Given the description of an element on the screen output the (x, y) to click on. 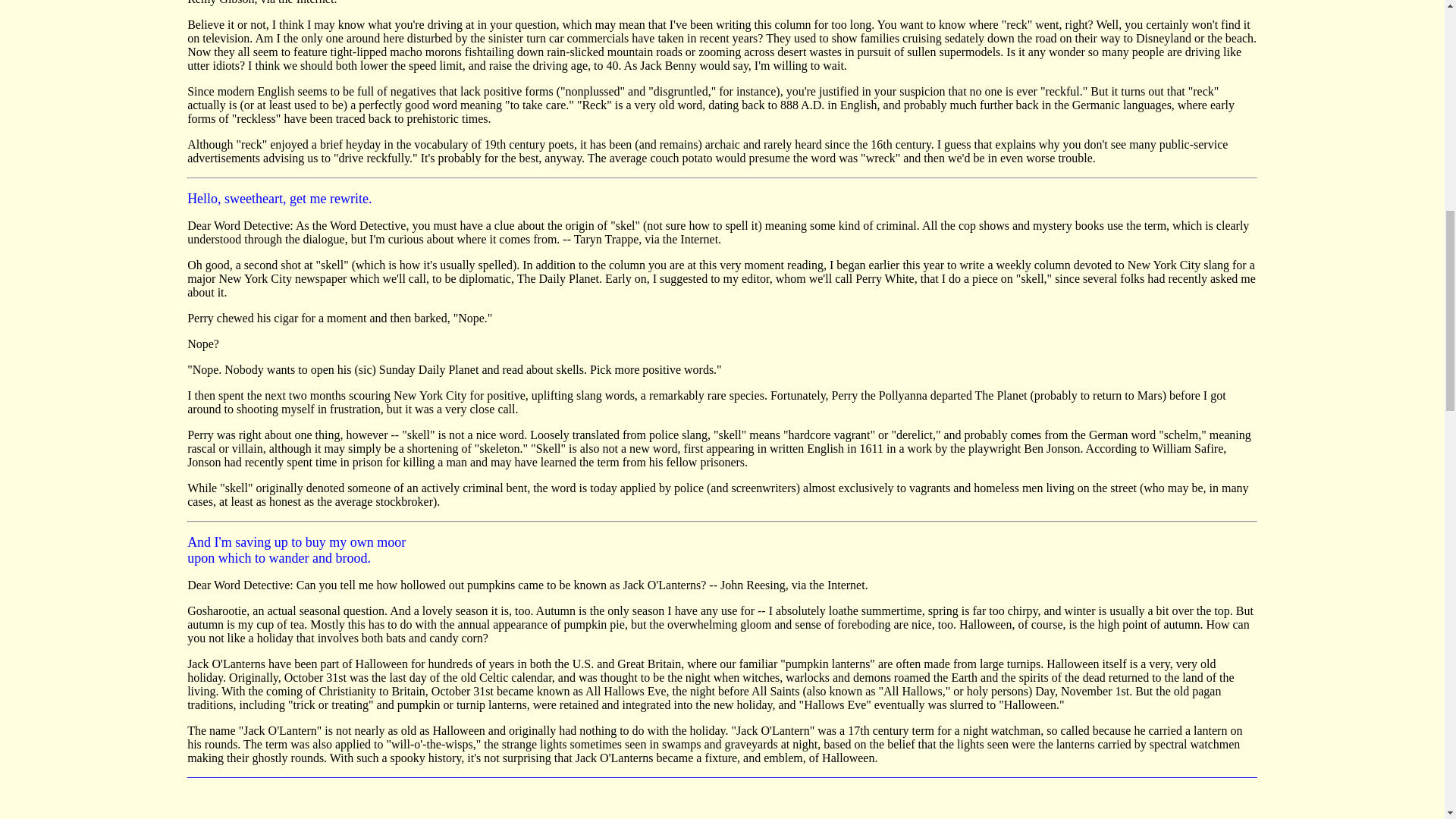
Hello, sweetheart, get me rewrite. (279, 198)
